Given the description of an element on the screen output the (x, y) to click on. 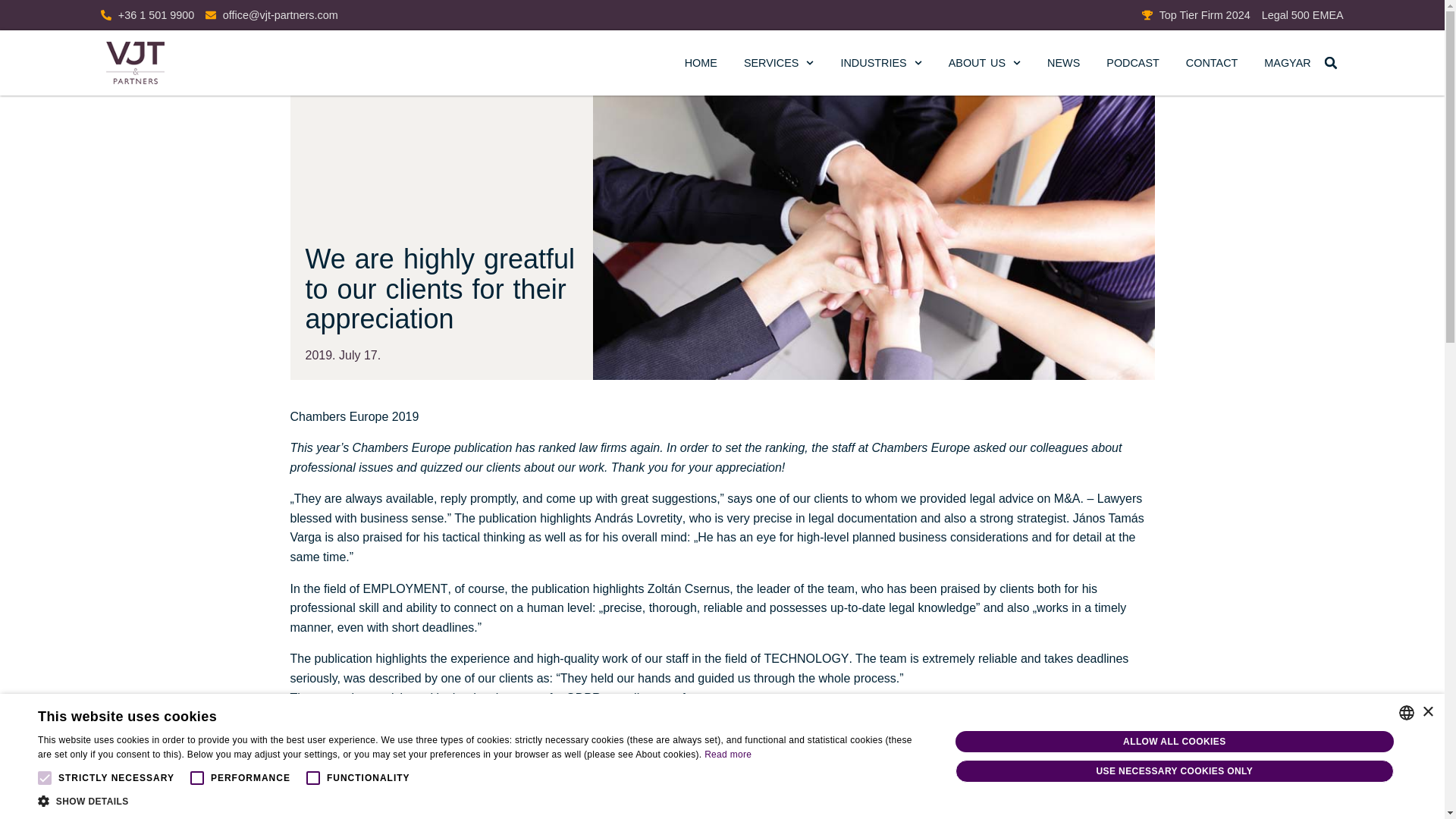
MAGYAR (1286, 62)
NEWS (1063, 62)
ABOUT US (984, 62)
HOME (700, 62)
SERVICES (778, 62)
CONTACT (1211, 62)
INDUSTRIES (880, 62)
PODCAST (1132, 62)
